Given the description of an element on the screen output the (x, y) to click on. 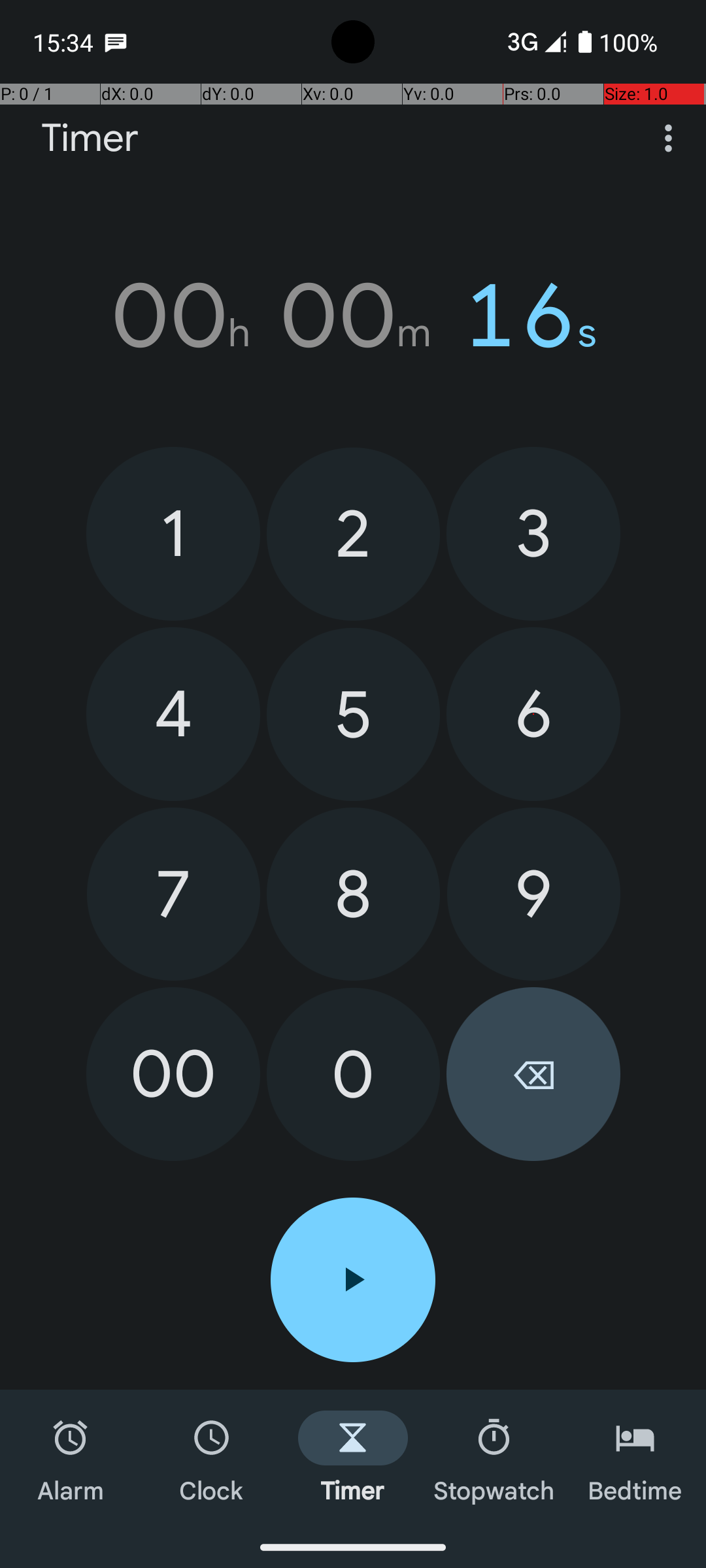
00h 00m 16s Element type: android.widget.TextView (353, 315)
⌫ Element type: android.widget.Button (533, 1073)
SMS Messenger notification: Matteo Ibrahim Element type: android.widget.ImageView (115, 41)
